Given the description of an element on the screen output the (x, y) to click on. 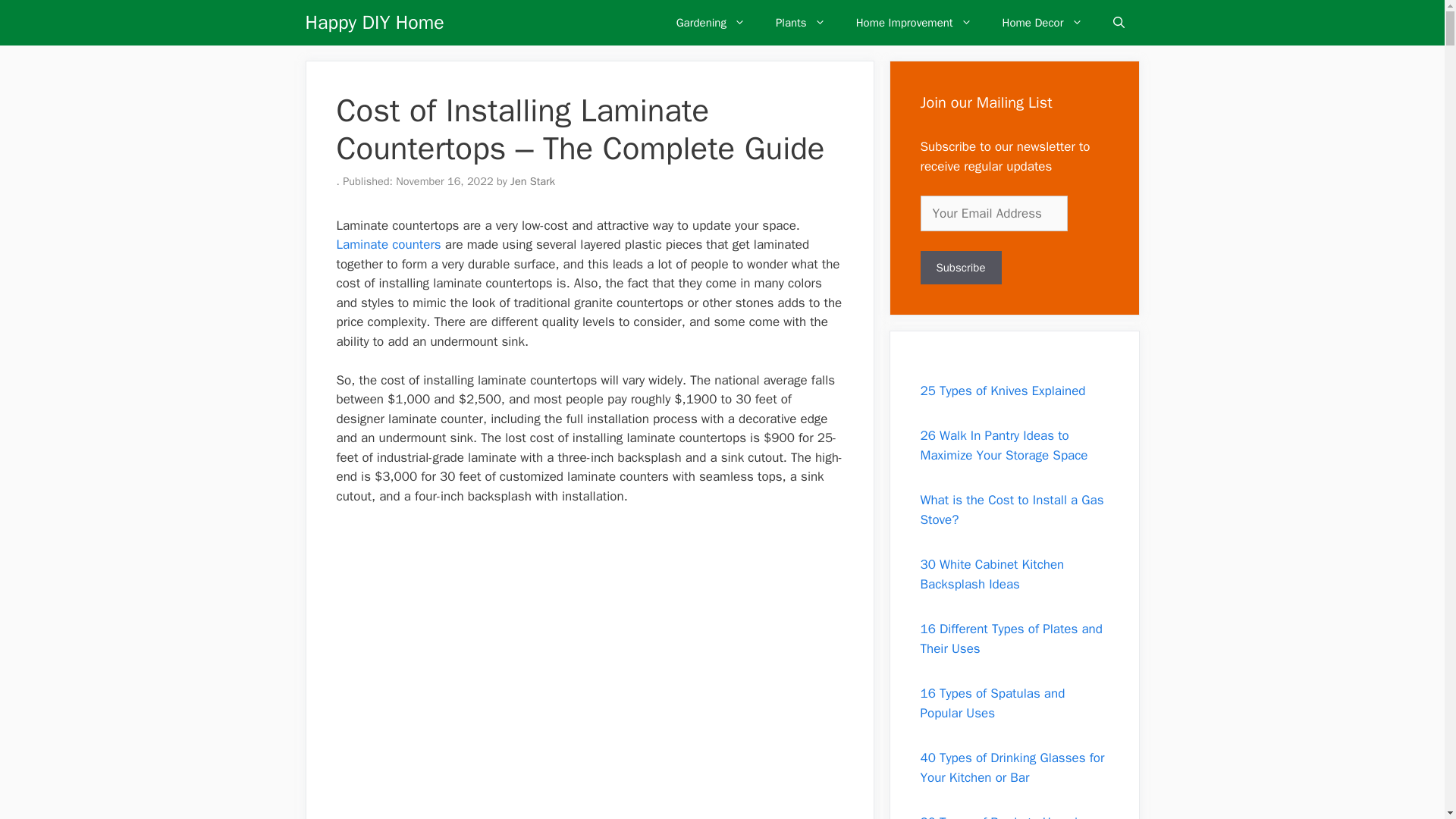
Subscribe (960, 267)
View all posts by Jen Stark (532, 181)
